Given the description of an element on the screen output the (x, y) to click on. 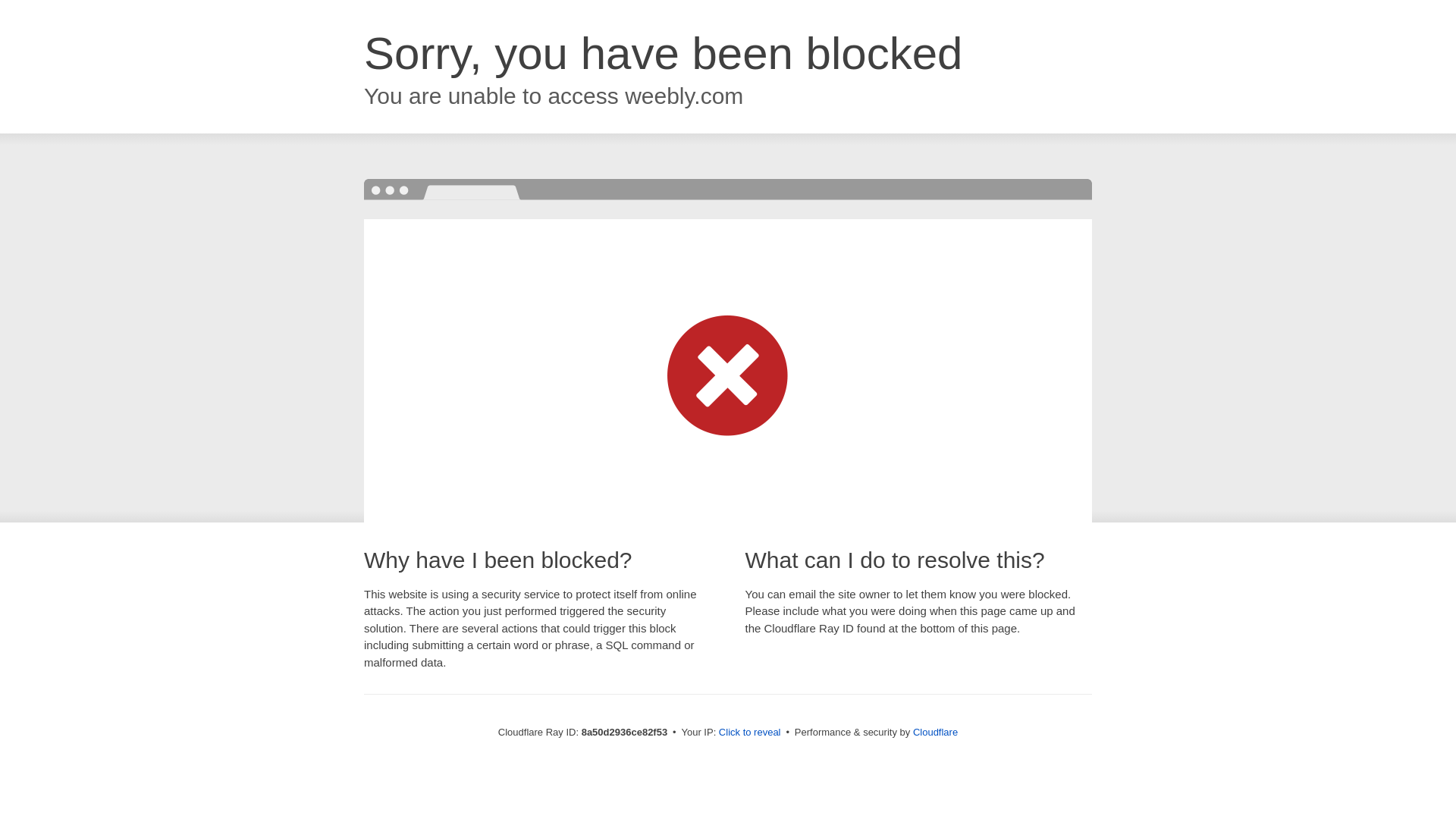
Click to reveal (749, 732)
Cloudflare (935, 731)
